Given the description of an element on the screen output the (x, y) to click on. 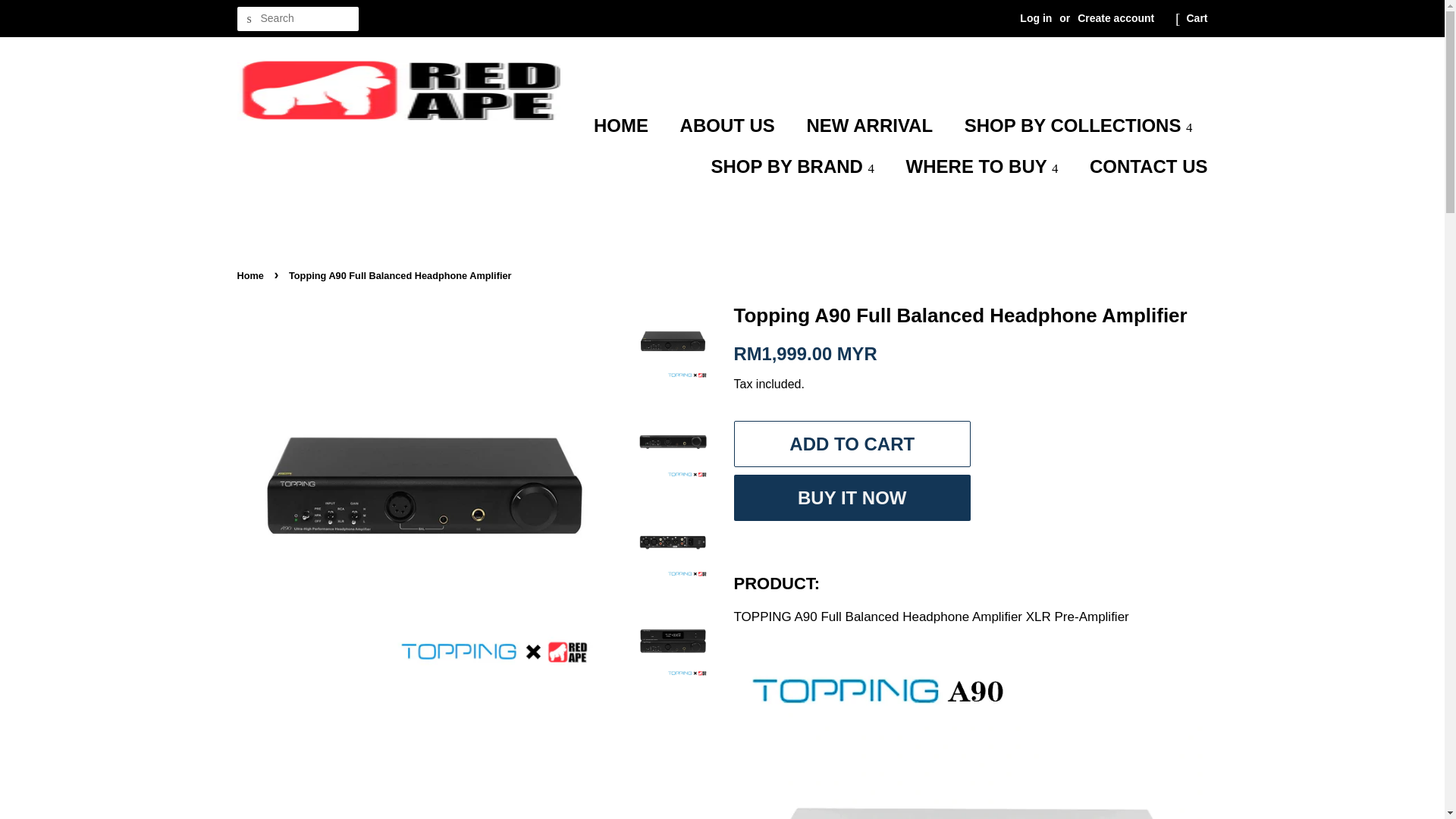
Log in (1035, 18)
Back to the frontpage (250, 275)
SEARCH (247, 18)
Cart (1196, 18)
Create account (1115, 18)
